Given the description of an element on the screen output the (x, y) to click on. 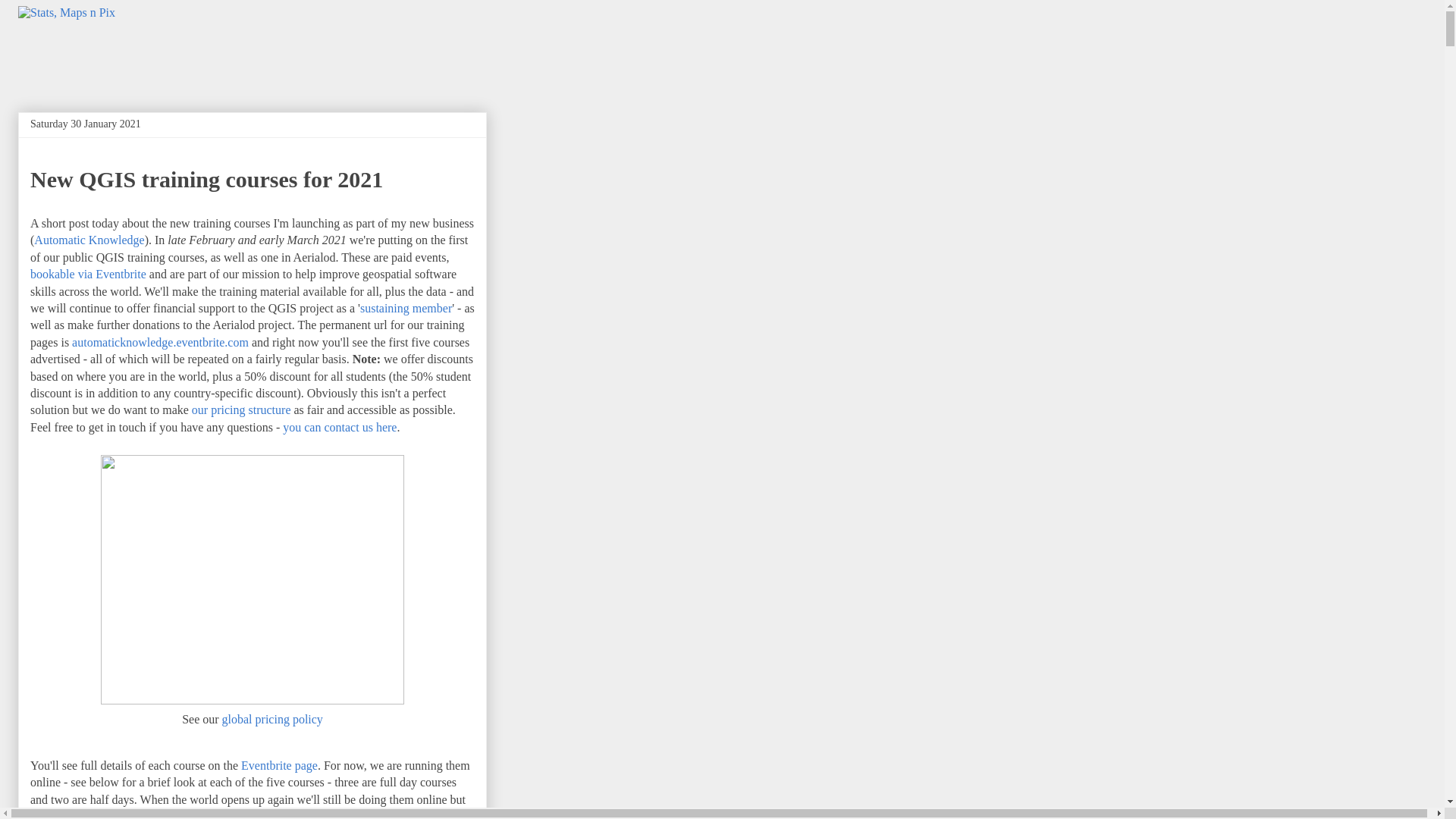
our pricing structure (241, 409)
automaticknowledge.eventbrite.com (159, 341)
sustaining member (405, 308)
New QGIS training courses for 2021 (206, 179)
Automatic Knowledge (88, 239)
you can contact us here (339, 427)
bookable via Eventbrite (88, 273)
global pricing policy (272, 718)
Eventbrite page (279, 765)
